Given the description of an element on the screen output the (x, y) to click on. 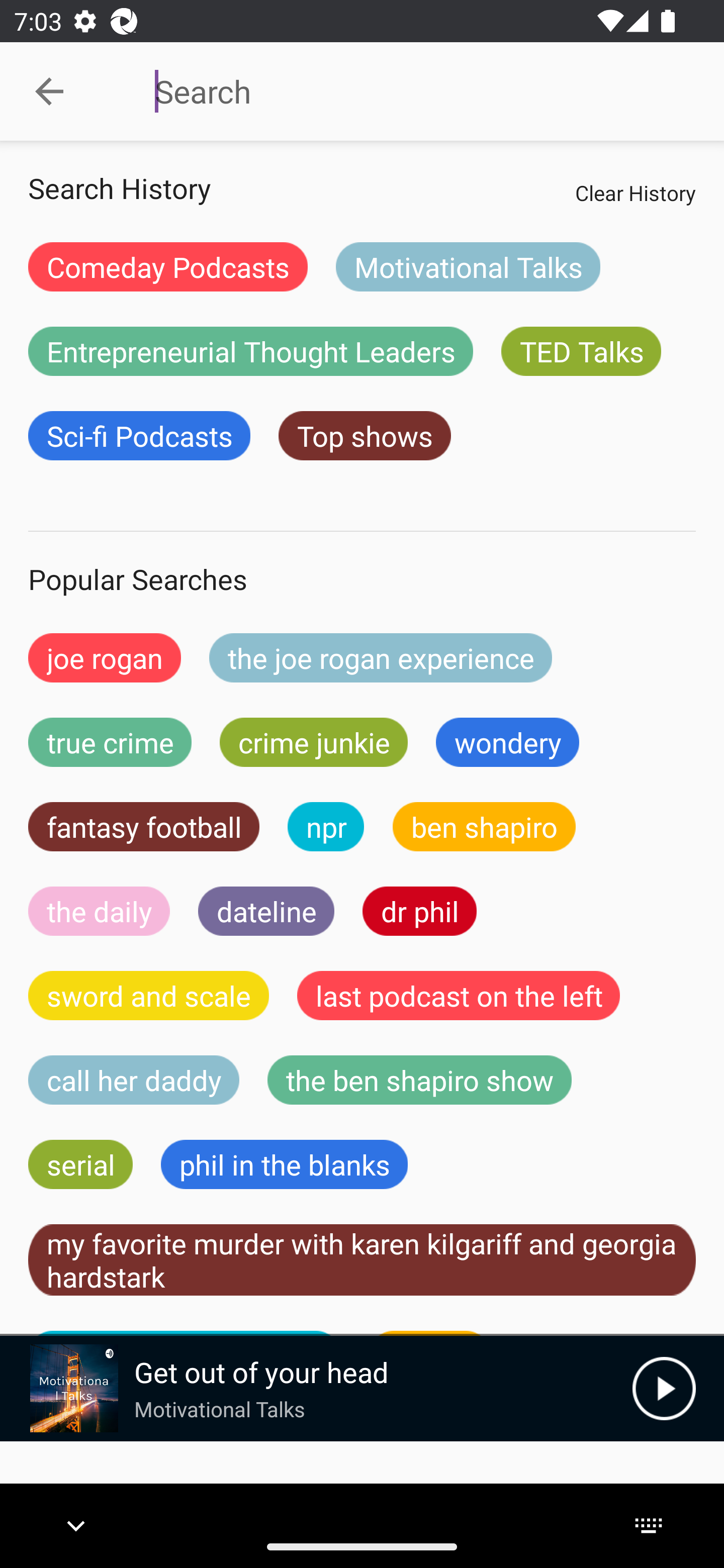
Collapse (49, 91)
Search (407, 91)
Clear History (634, 192)
Comeday Podcasts (167, 266)
Motivational Talks (467, 266)
Entrepreneurial Thought Leaders (250, 351)
TED Talks (581, 351)
Sci-fi Podcasts (139, 435)
Top shows (364, 435)
joe rogan (104, 657)
the joe rogan experience (380, 657)
true crime (109, 742)
crime junkie (313, 742)
wondery (507, 742)
fantasy football (143, 826)
npr (325, 826)
ben shapiro (483, 826)
the daily (99, 910)
dateline (266, 910)
dr phil (419, 910)
sword and scale (148, 995)
last podcast on the left (458, 995)
call her daddy (133, 1079)
the ben shapiro show (419, 1079)
serial (80, 1163)
phil in the blanks (283, 1163)
Picture Get out of your head Motivational Talks (316, 1388)
Play (663, 1388)
